Given the description of an element on the screen output the (x, y) to click on. 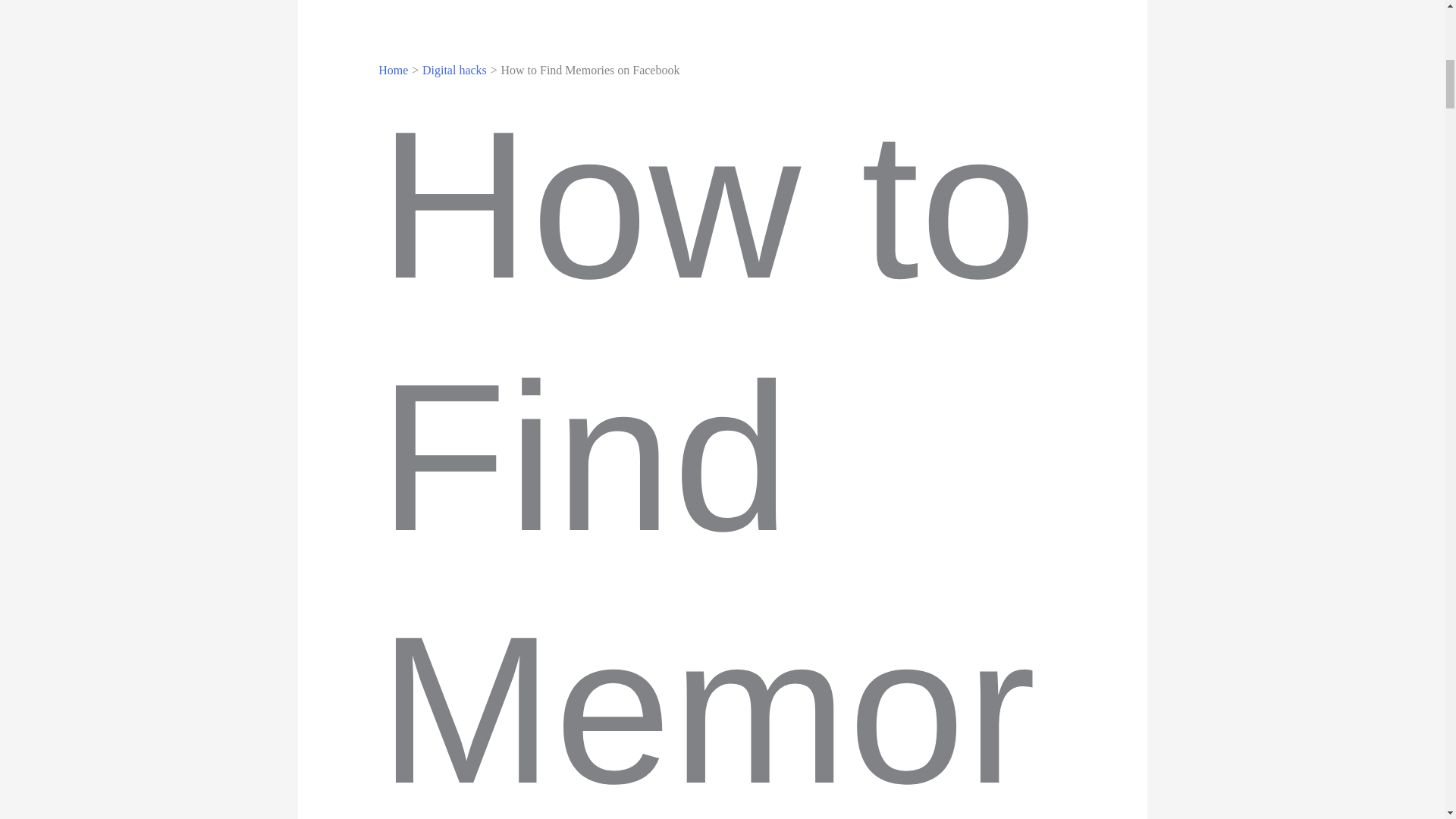
Digital hacks (454, 69)
Home (392, 69)
